Given the description of an element on the screen output the (x, y) to click on. 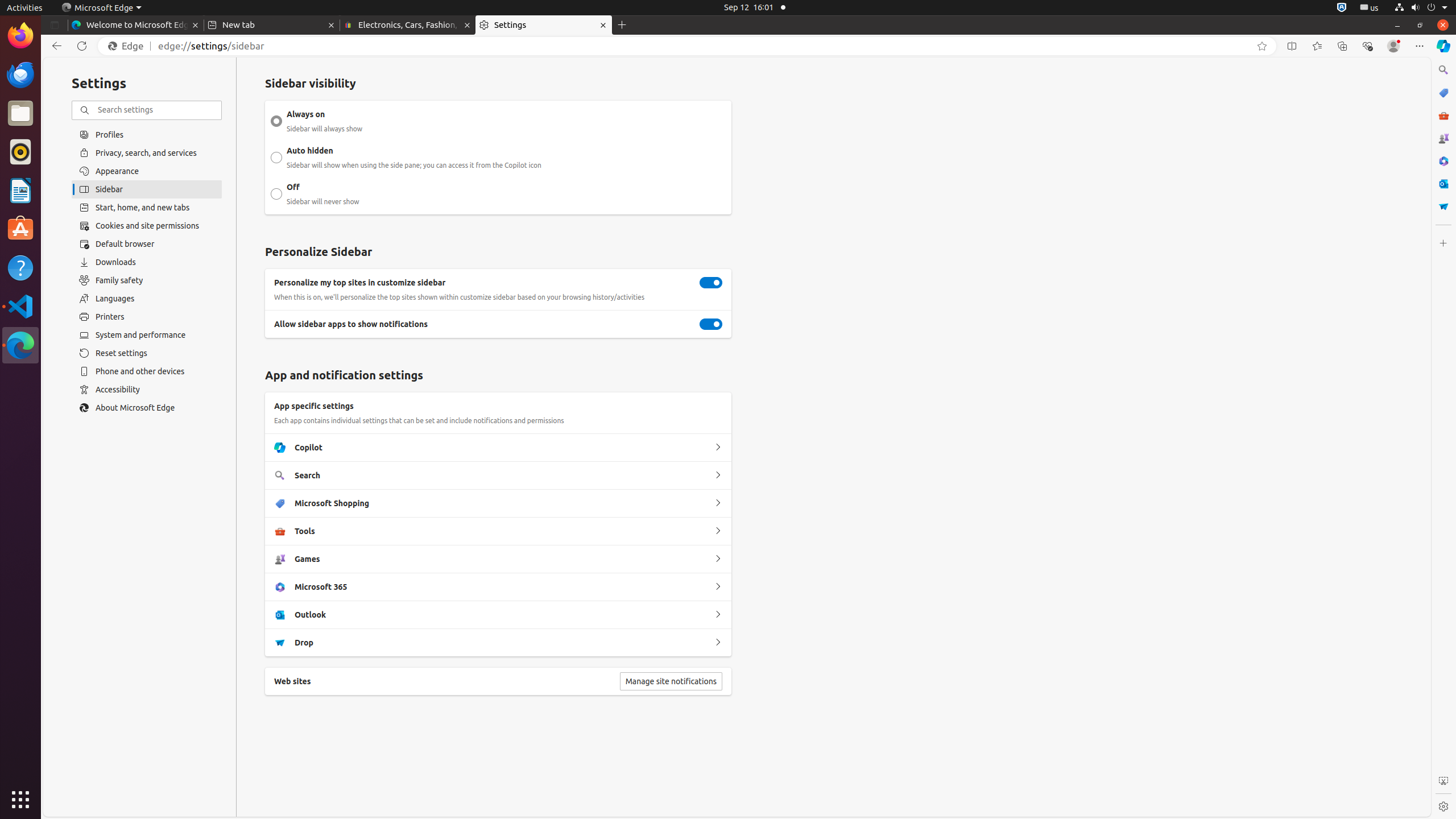
Settings Element type: push-button (1443, 806)
Copilot Element type: push-button (717, 447)
Thunderbird Mail Element type: push-button (20, 74)
Rhythmbox Element type: push-button (20, 151)
Profile 1 Profile, Please sign in Element type: push-button (1392, 46)
